Given the description of an element on the screen output the (x, y) to click on. 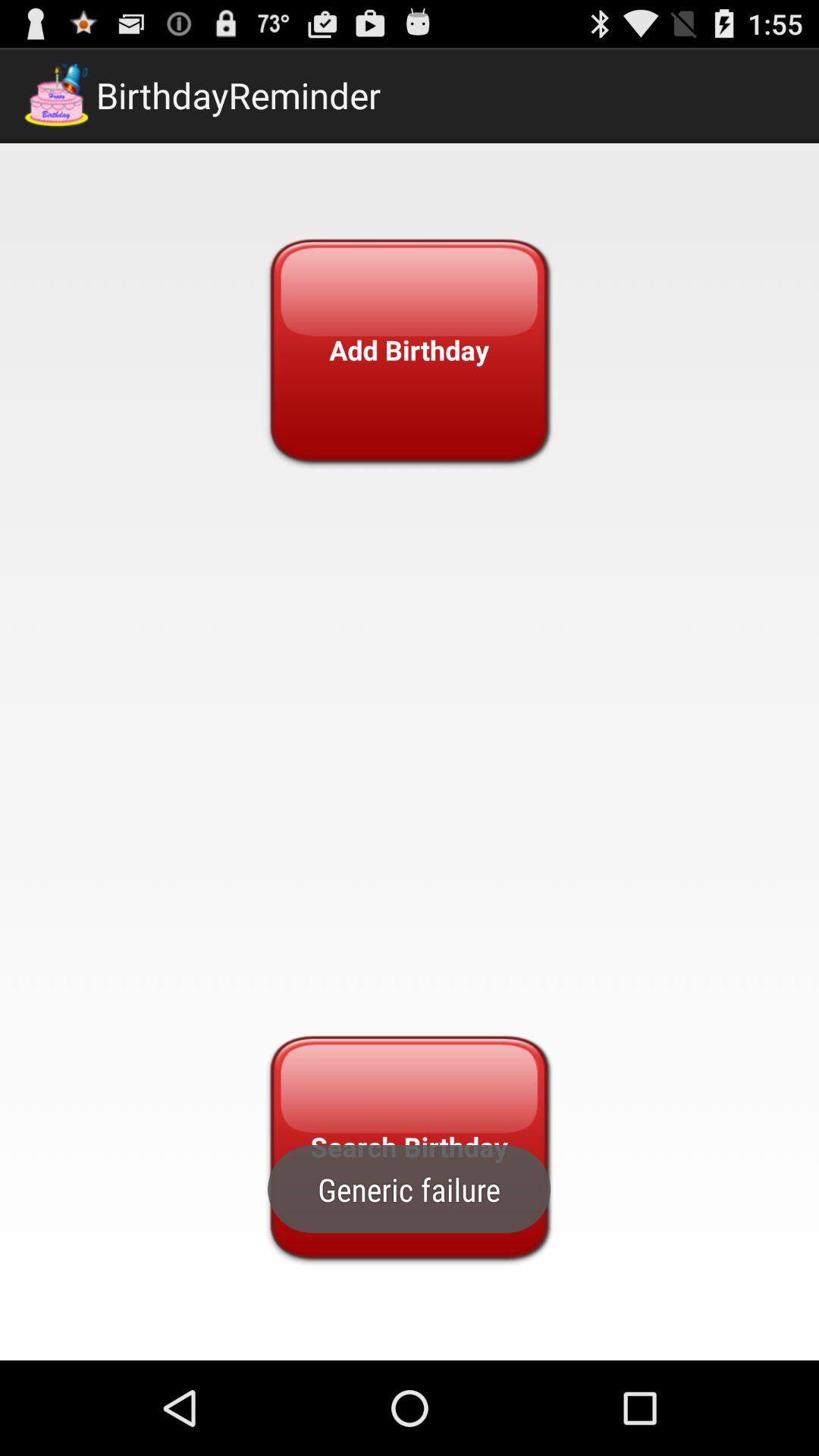
select the item below the birthdayreminder app (408, 349)
